Given the description of an element on the screen output the (x, y) to click on. 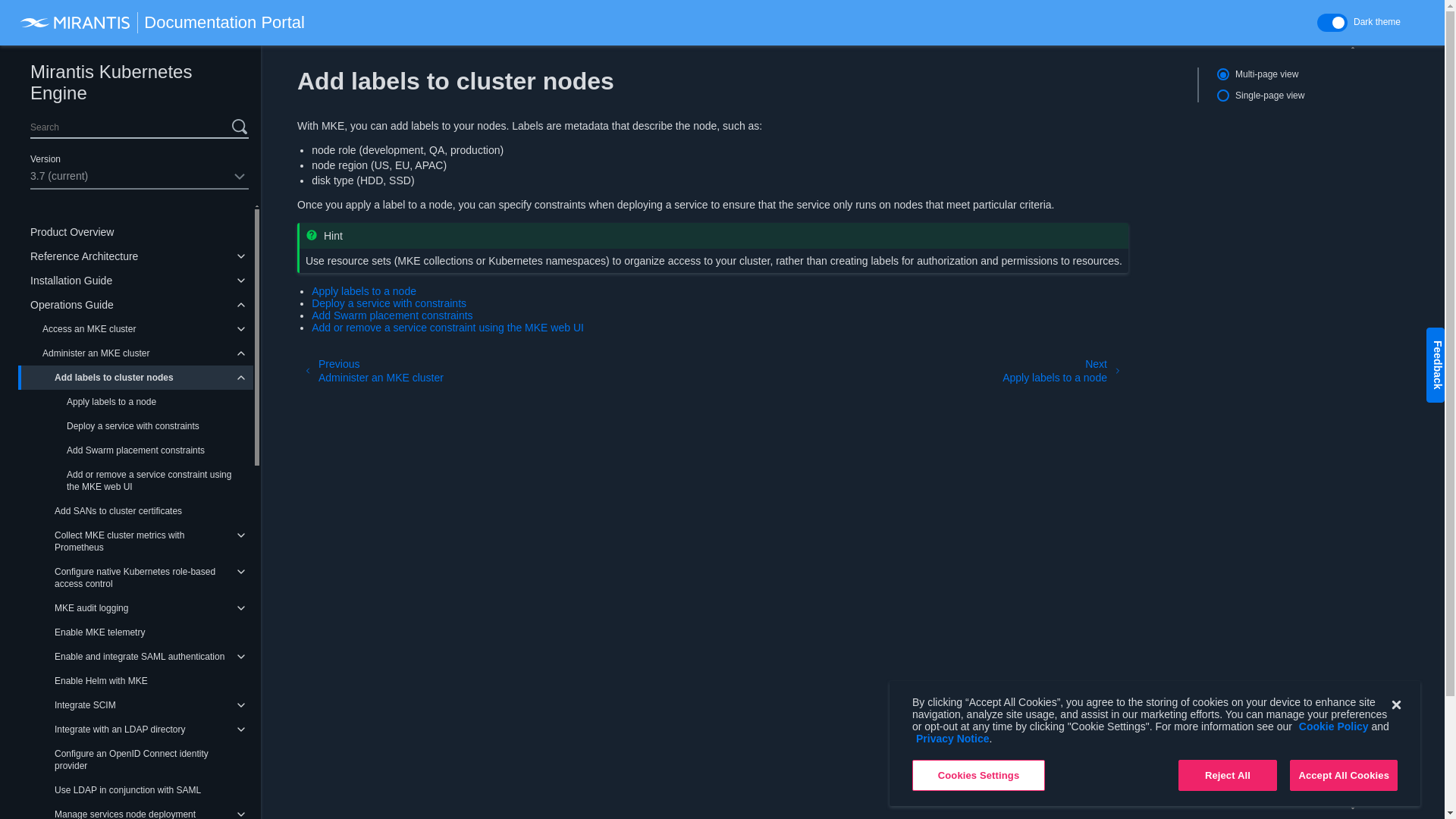
Product Overview (135, 232)
Installation Guide (135, 280)
Reference Architecture (135, 256)
Mirantis Kubernetes Engine (138, 85)
Documentation Portal (160, 22)
